Given the description of an element on the screen output the (x, y) to click on. 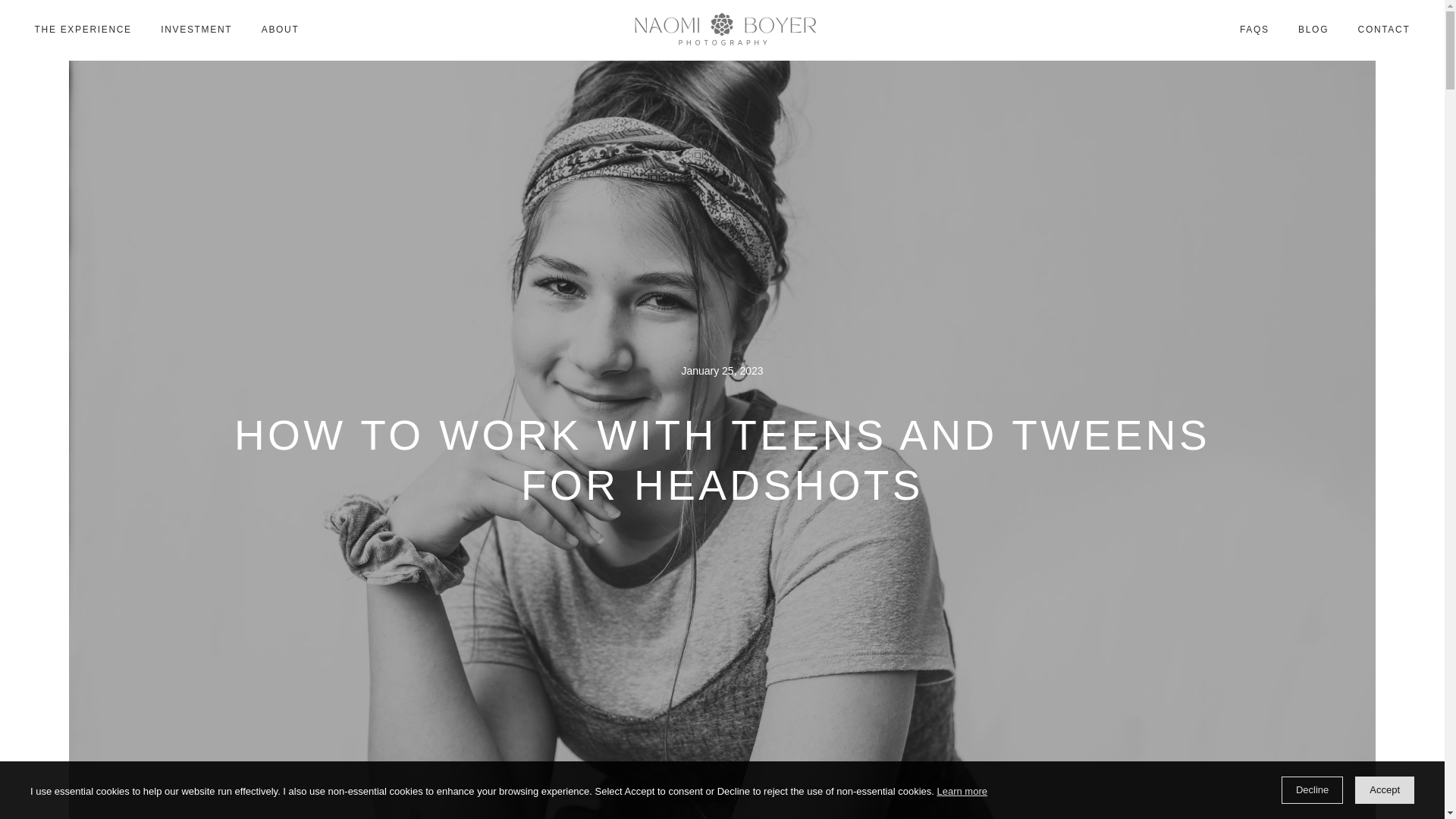
CONTACT (1382, 30)
Learn more (961, 791)
ABOUT (280, 30)
Decline (1311, 789)
FAQS (1254, 30)
Accept (1384, 789)
BLOG (1313, 30)
THE EXPERIENCE (83, 30)
INVESTMENT (197, 30)
